Given the description of an element on the screen output the (x, y) to click on. 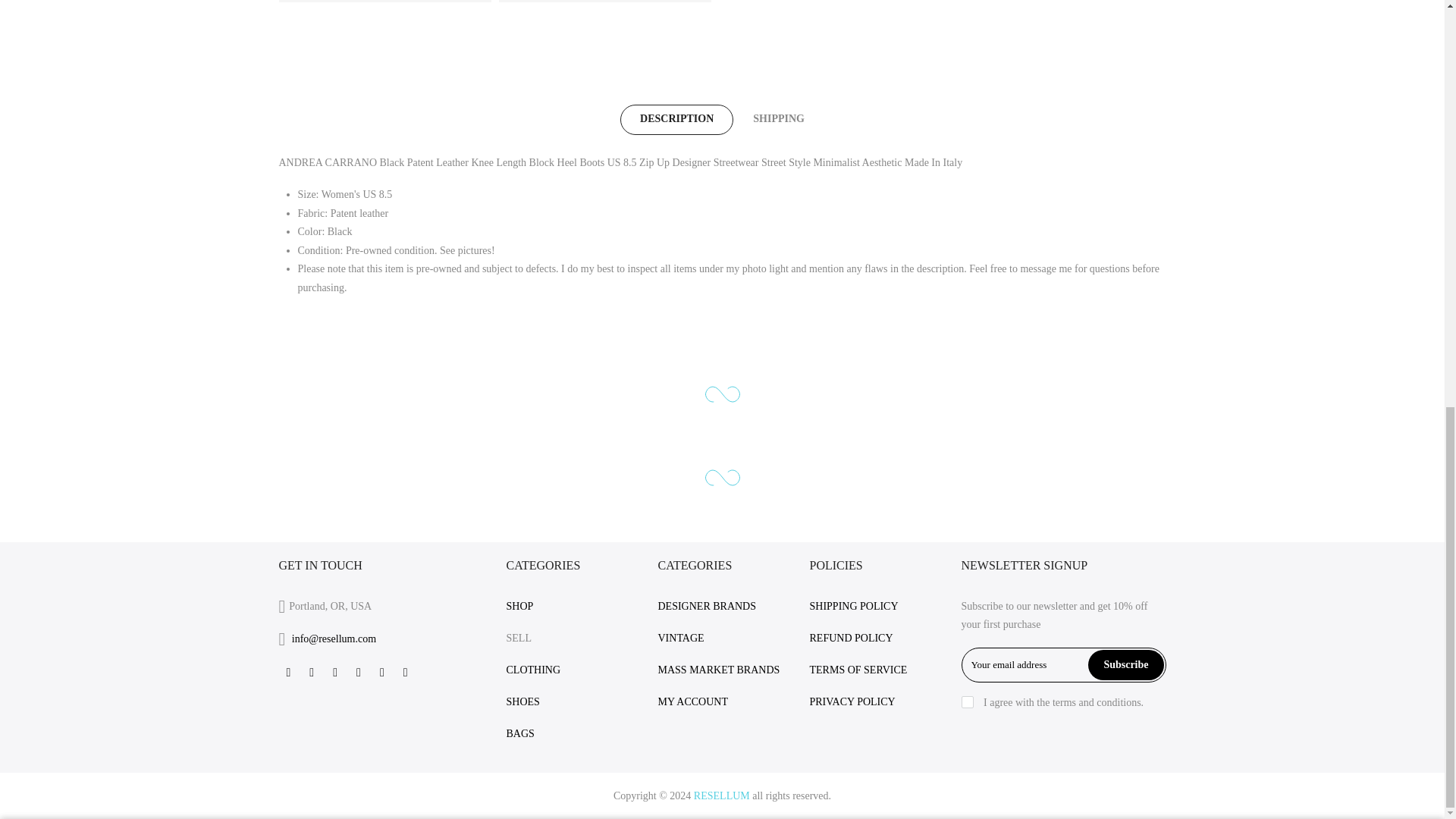
PRIVACY POLICY (852, 701)
DESCRIPTION (676, 119)
CLOTHING (533, 669)
BAGS (520, 733)
SHIPPING POLICY (853, 605)
1 (1001, 45)
REFUND POLICY (851, 637)
SHOES (523, 701)
DESIGNER BRANDS (707, 605)
SHIPPING (778, 119)
